Given the description of an element on the screen output the (x, y) to click on. 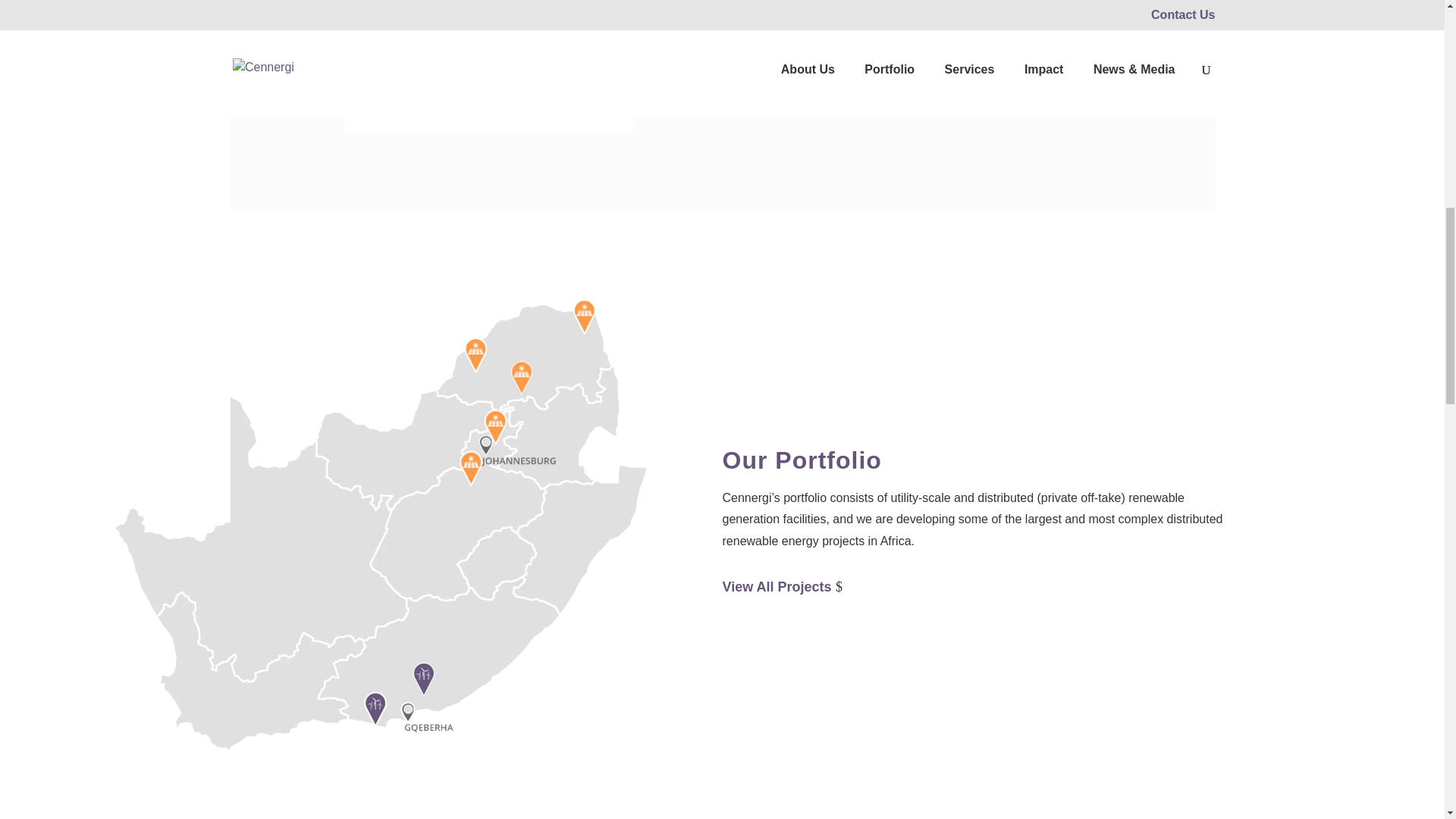
View All Projects (790, 577)
Learn More (759, 69)
Learn More (1044, 70)
Our Approach (440, 71)
Learn More (905, 70)
